Given the description of an element on the screen output the (x, y) to click on. 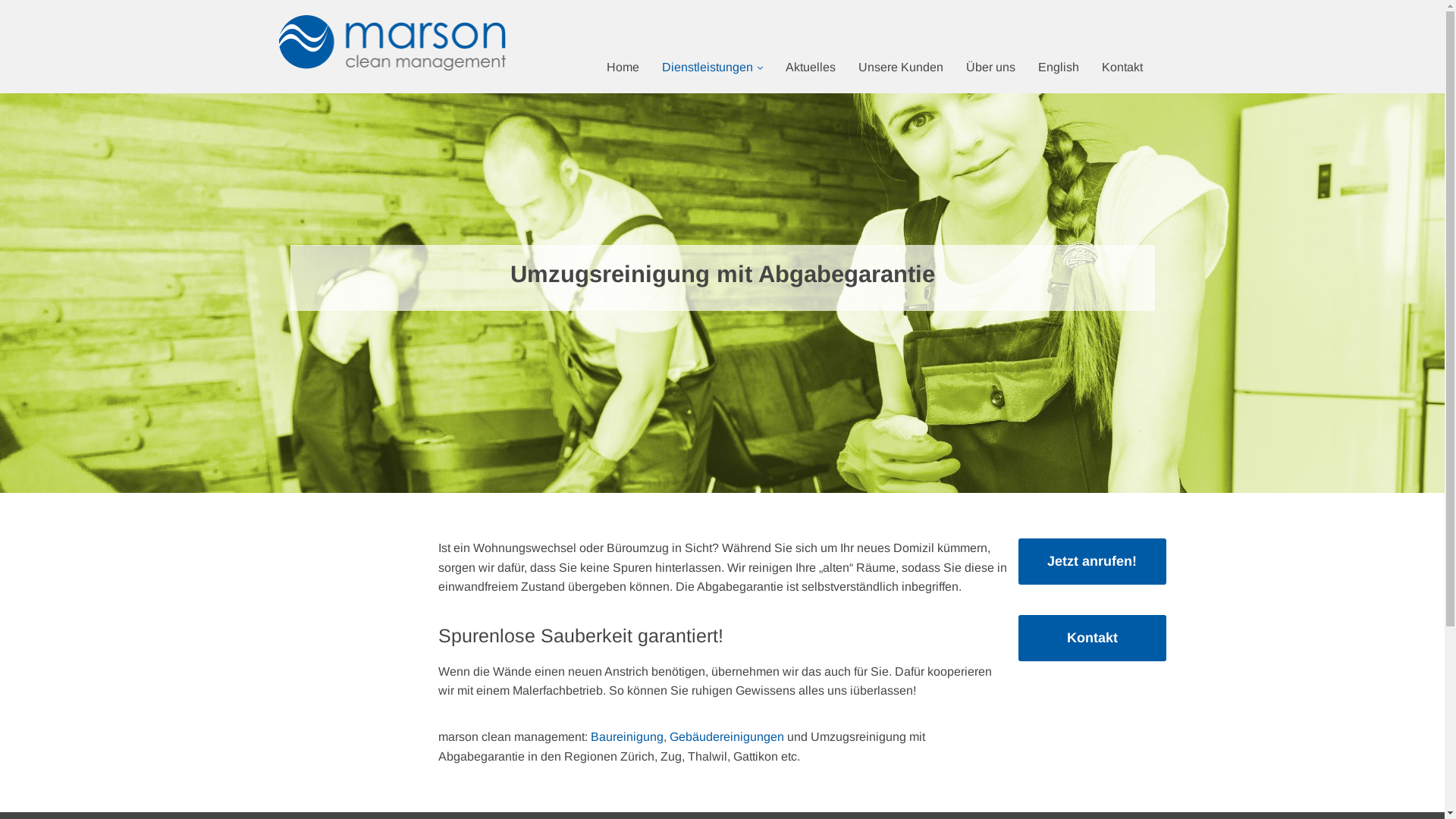
Kontakt Element type: text (1091, 638)
Baureinigung Element type: text (625, 736)
English Element type: text (1058, 67)
Home Element type: text (622, 67)
Kontakt Element type: text (1121, 67)
Aktuelles Element type: text (810, 67)
Jetzt anrufen! Element type: text (1091, 561)
Dienstleistungen Element type: text (712, 67)
Unsere Kunden Element type: text (900, 67)
